Given the description of an element on the screen output the (x, y) to click on. 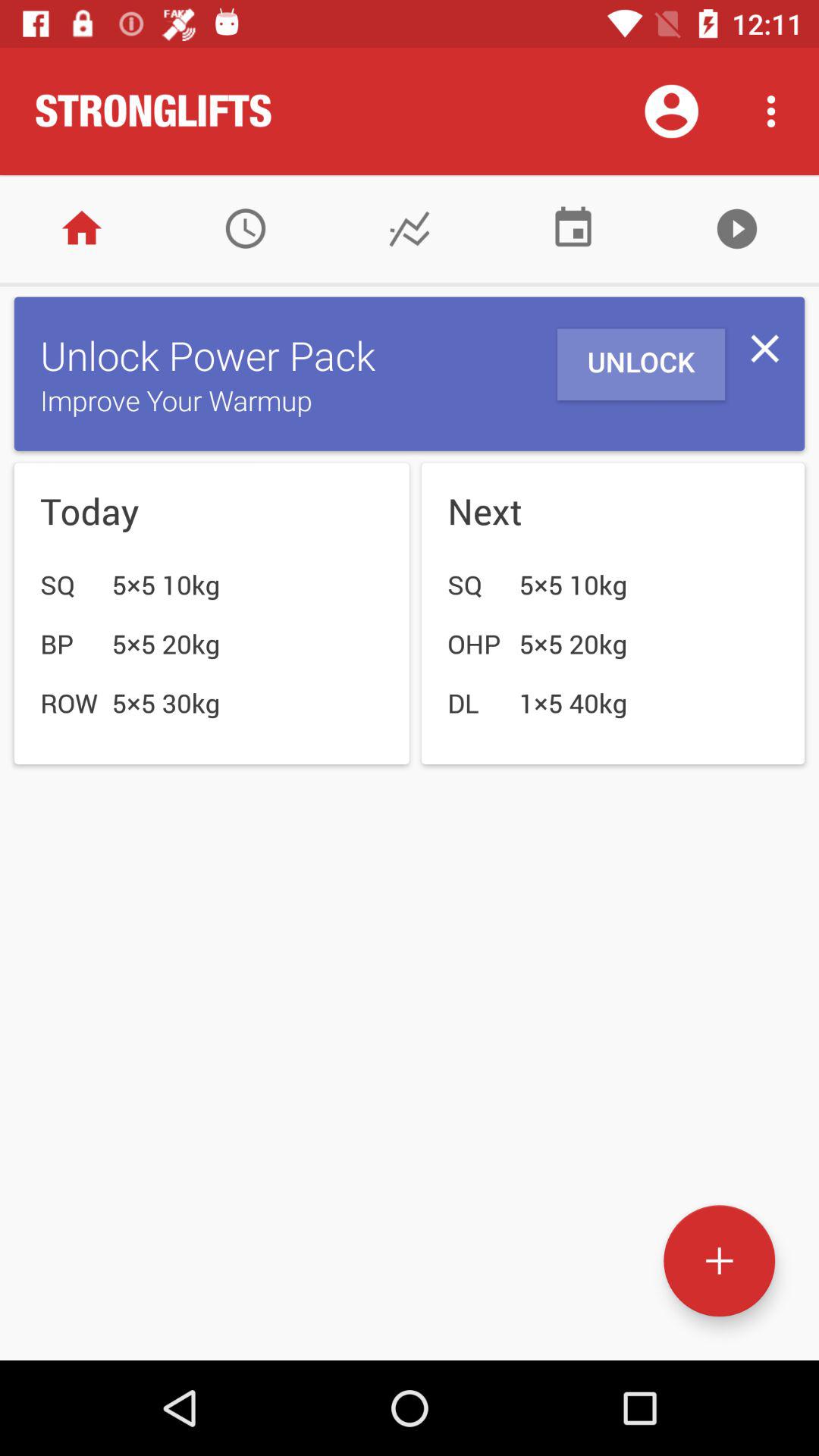
check statistics (409, 228)
